Given the description of an element on the screen output the (x, y) to click on. 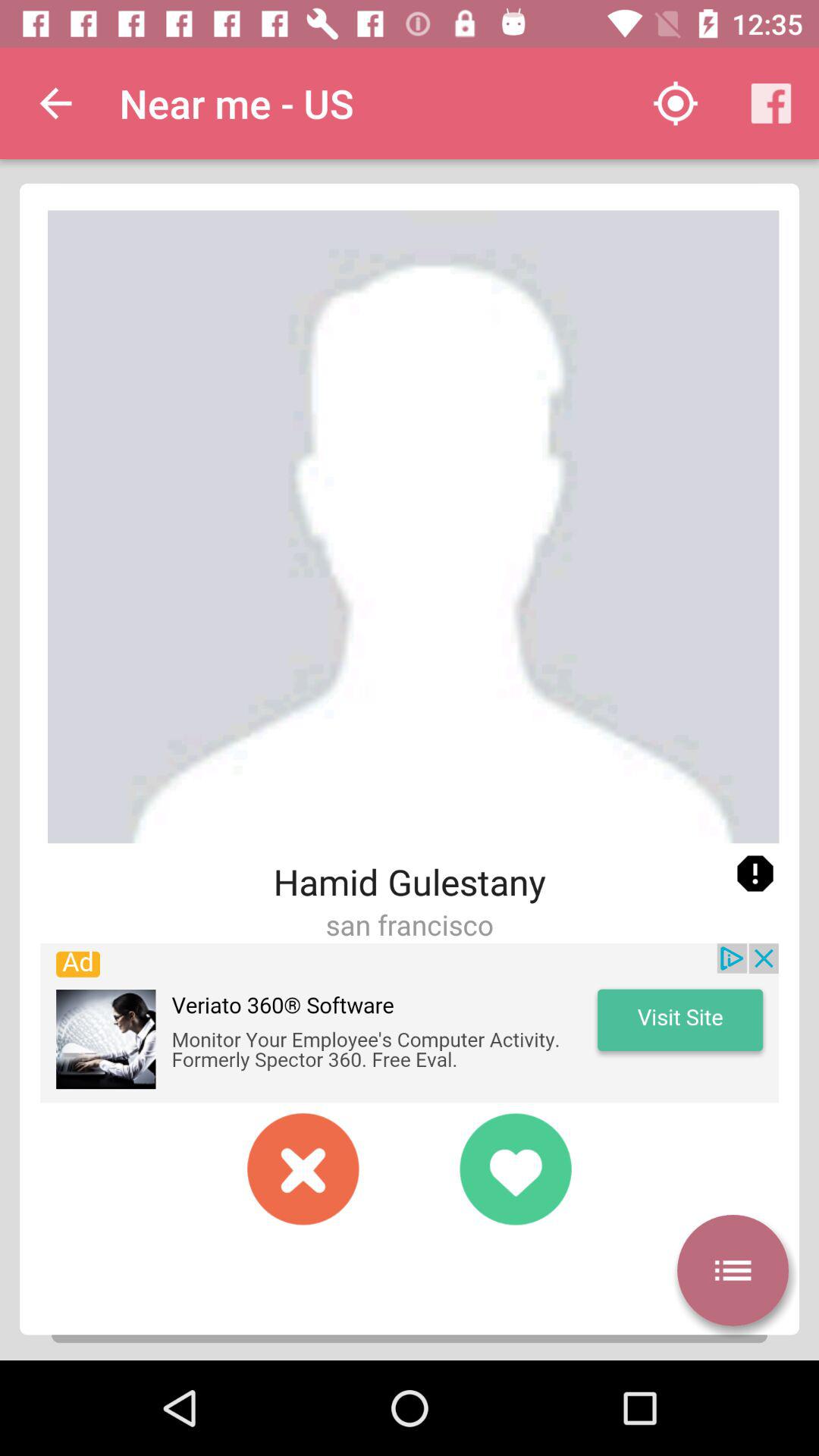
delete this entry (303, 1169)
